Given the description of an element on the screen output the (x, y) to click on. 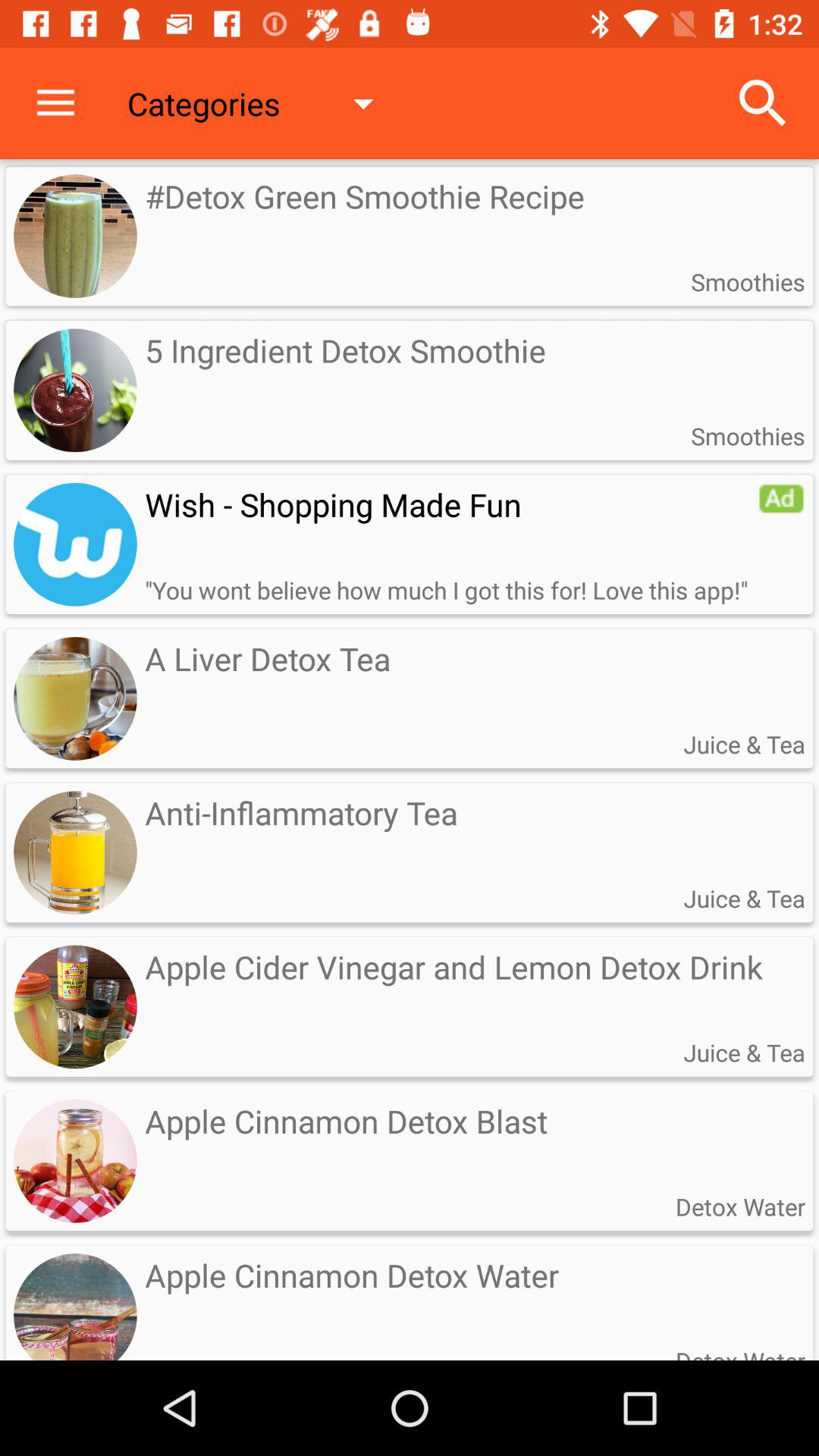
flip until wish shopping made item (451, 504)
